Given the description of an element on the screen output the (x, y) to click on. 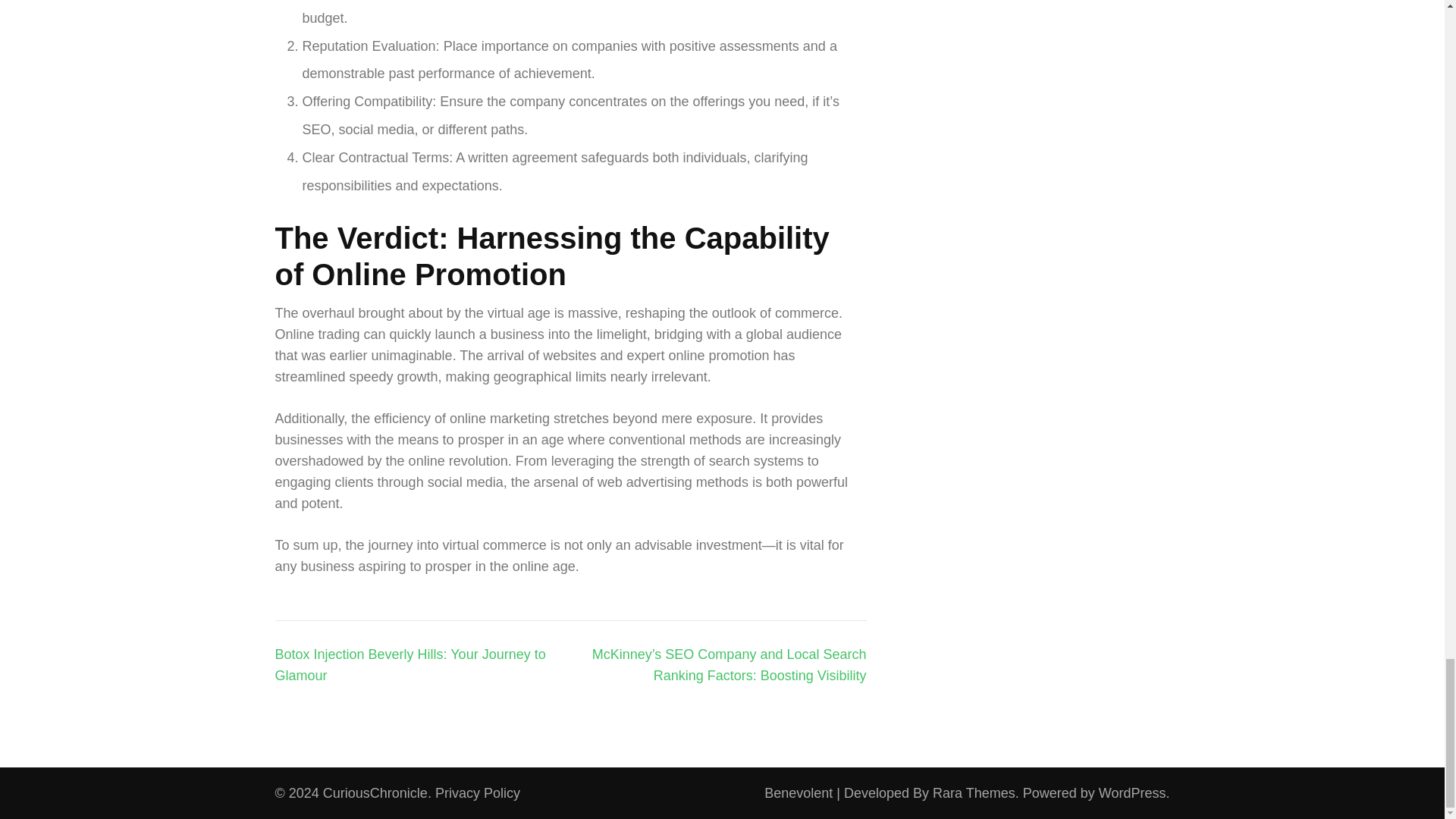
Botox Injection Beverly Hills: Your Journey to Glamour (409, 665)
